Given the description of an element on the screen output the (x, y) to click on. 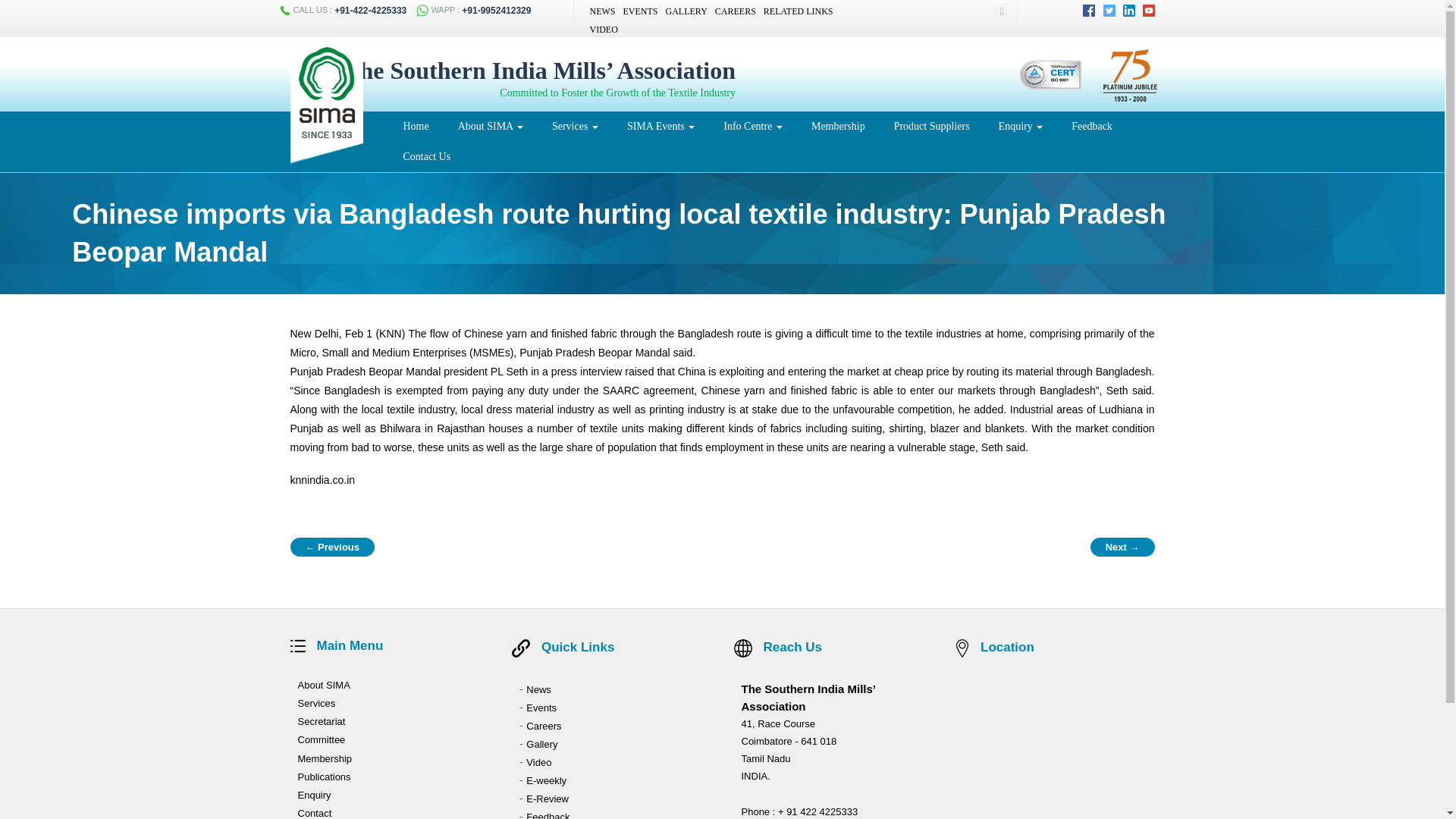
Services (574, 126)
Home (415, 126)
GALLERY (685, 10)
About SIMA (490, 126)
Info Centre (752, 126)
RELATED LINKS (797, 10)
SIMA Events (660, 126)
About SIMA (490, 126)
Search here... (993, 11)
CAREERS (734, 10)
